Given the description of an element on the screen output the (x, y) to click on. 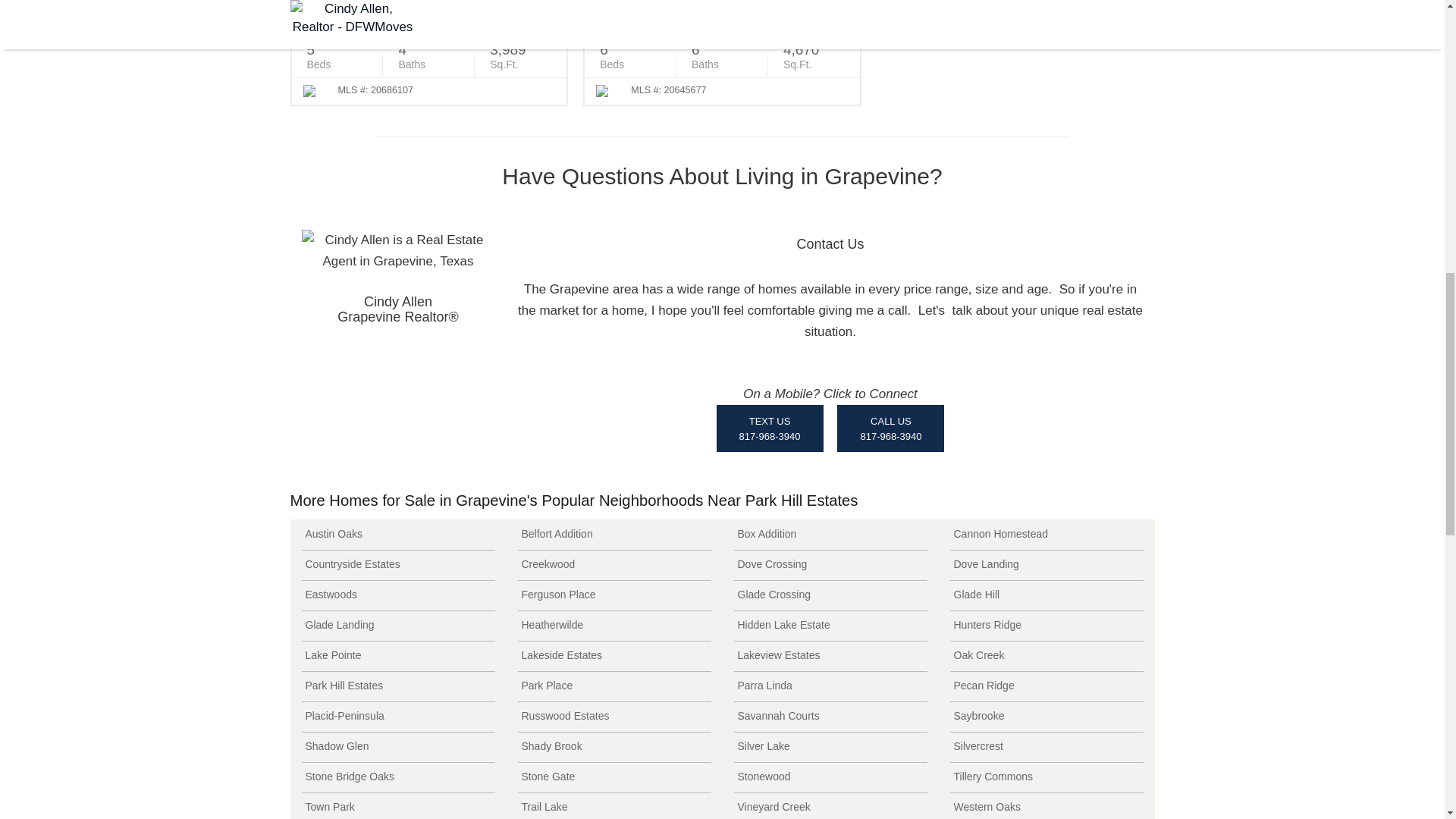
View Cannon Homestead (1045, 534)
View Belfort Addition (613, 534)
View Creekwood (613, 564)
View Countryside Estates (398, 564)
2112 Holt Way Grapevine,  TX 76051 (722, 5)
View Box Addition (830, 534)
2097 Holt Way Grapevine,  TX 76051 (428, 5)
View Austin Oaks (398, 534)
